Given the description of an element on the screen output the (x, y) to click on. 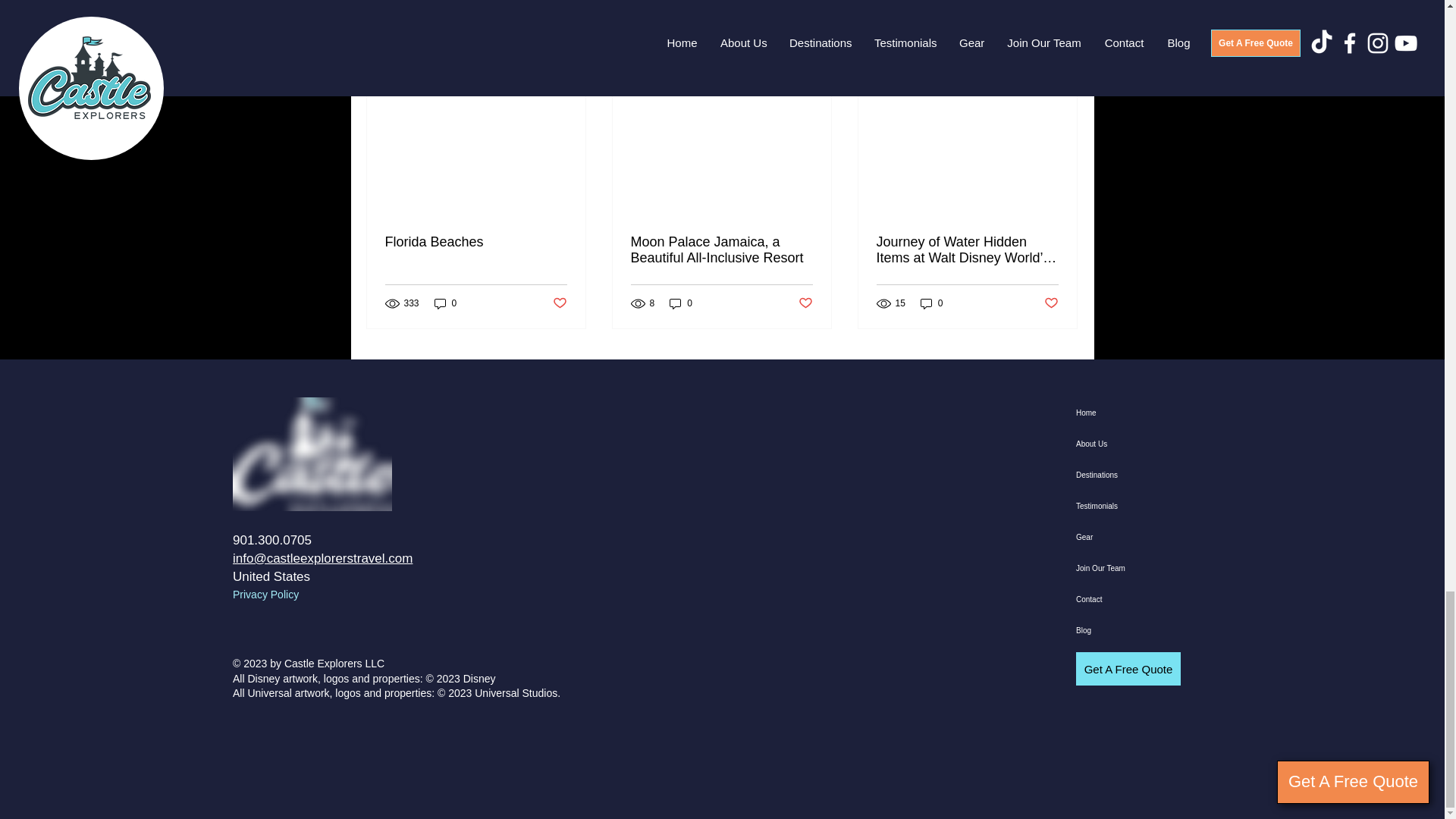
0 (681, 303)
Moon Palace Jamaica, a Beautiful All-Inclusive Resort (721, 250)
0 (445, 303)
See All (1061, 65)
Florida Beaches (476, 242)
Post not marked as liked (804, 303)
Post not marked as liked (558, 303)
